Given the description of an element on the screen output the (x, y) to click on. 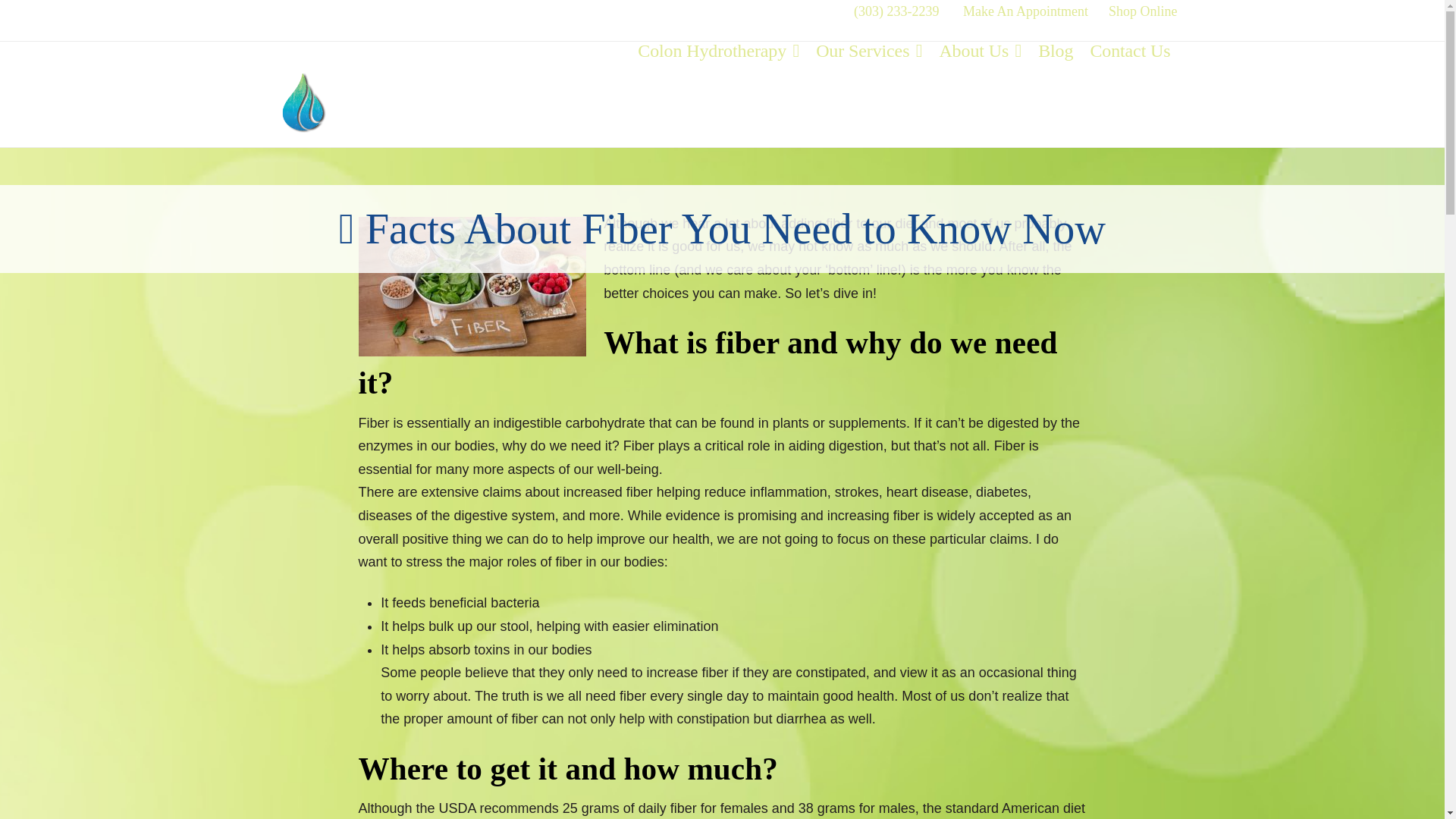
Contact Us (1129, 88)
About Us (979, 88)
Make An Appointment (1024, 11)
Colon Hydrotherapy (718, 88)
Our Services (868, 88)
Shop Online (1142, 11)
